Given the description of an element on the screen output the (x, y) to click on. 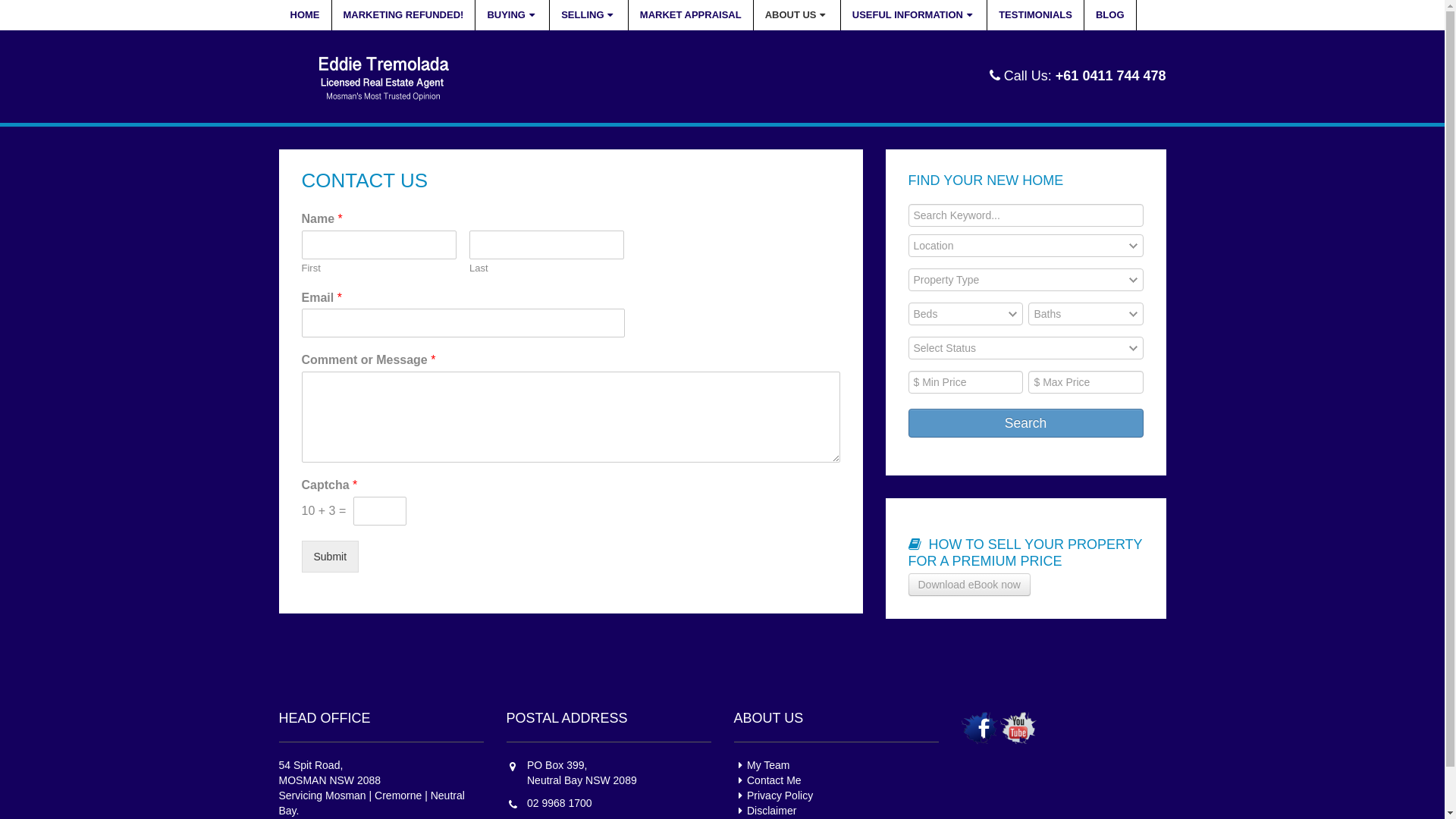
MARKET APPRAISAL Element type: text (690, 15)
ABOUT US Element type: text (796, 15)
HOME Element type: text (305, 15)
Search Element type: text (1025, 422)
Disclaimer Element type: text (765, 810)
USEFUL INFORMATION Element type: text (913, 15)
BLOG Element type: text (1110, 15)
SELLING Element type: text (588, 15)
Submit Element type: text (330, 556)
TESTIMONIALS Element type: text (1035, 15)
Contact Me Element type: text (767, 780)
Download eBook now Element type: text (969, 584)
BUYING Element type: text (512, 15)
My Team Element type: text (762, 765)
Privacy Policy Element type: text (773, 795)
MARKETING REFUNDED! Element type: text (404, 15)
